Given the description of an element on the screen output the (x, y) to click on. 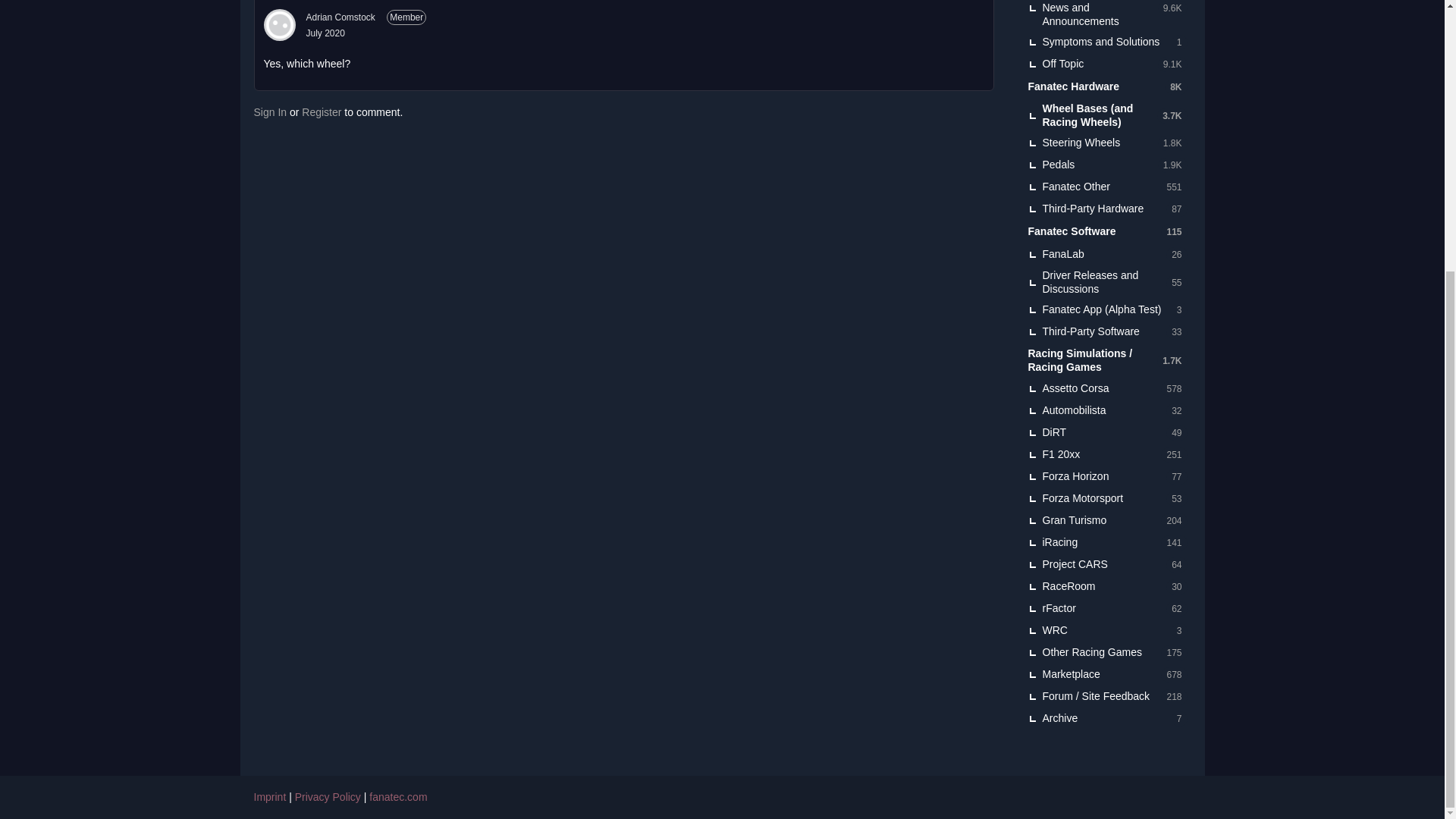
3,681 discussions (1170, 115)
9,649 discussions (1172, 8)
Sign In (269, 111)
1,775 discussions (1172, 142)
July 4, 2020 5:09AM (325, 32)
1,873 discussions (1172, 164)
July 2020 (325, 32)
Adrian Comstock (279, 24)
Adrian Comstock (340, 17)
9,066 discussions (1172, 64)
